Given the description of an element on the screen output the (x, y) to click on. 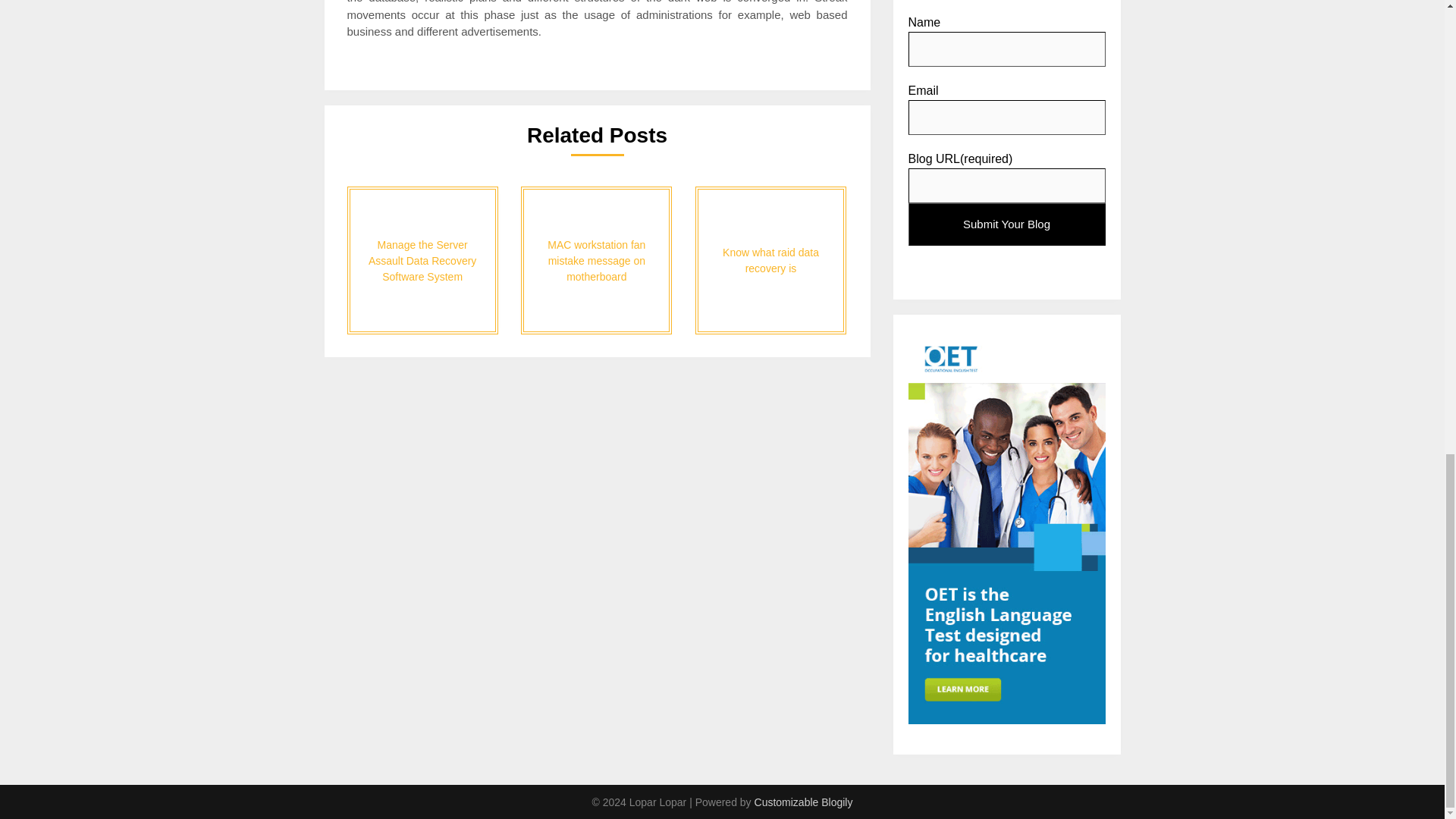
Know what raid data recovery is (770, 260)
Customizable Blogily (803, 802)
Manage the Server Assault Data Recovery Software System (422, 260)
Submit Your Blog (1006, 224)
MAC workstation fan mistake message on motherboard (596, 260)
Submit Your Blog (1006, 224)
Manage the Server Assault Data Recovery Software System (422, 260)
MAC workstation fan mistake message on motherboard (596, 260)
Know what raid data recovery is (770, 260)
